Given the description of an element on the screen output the (x, y) to click on. 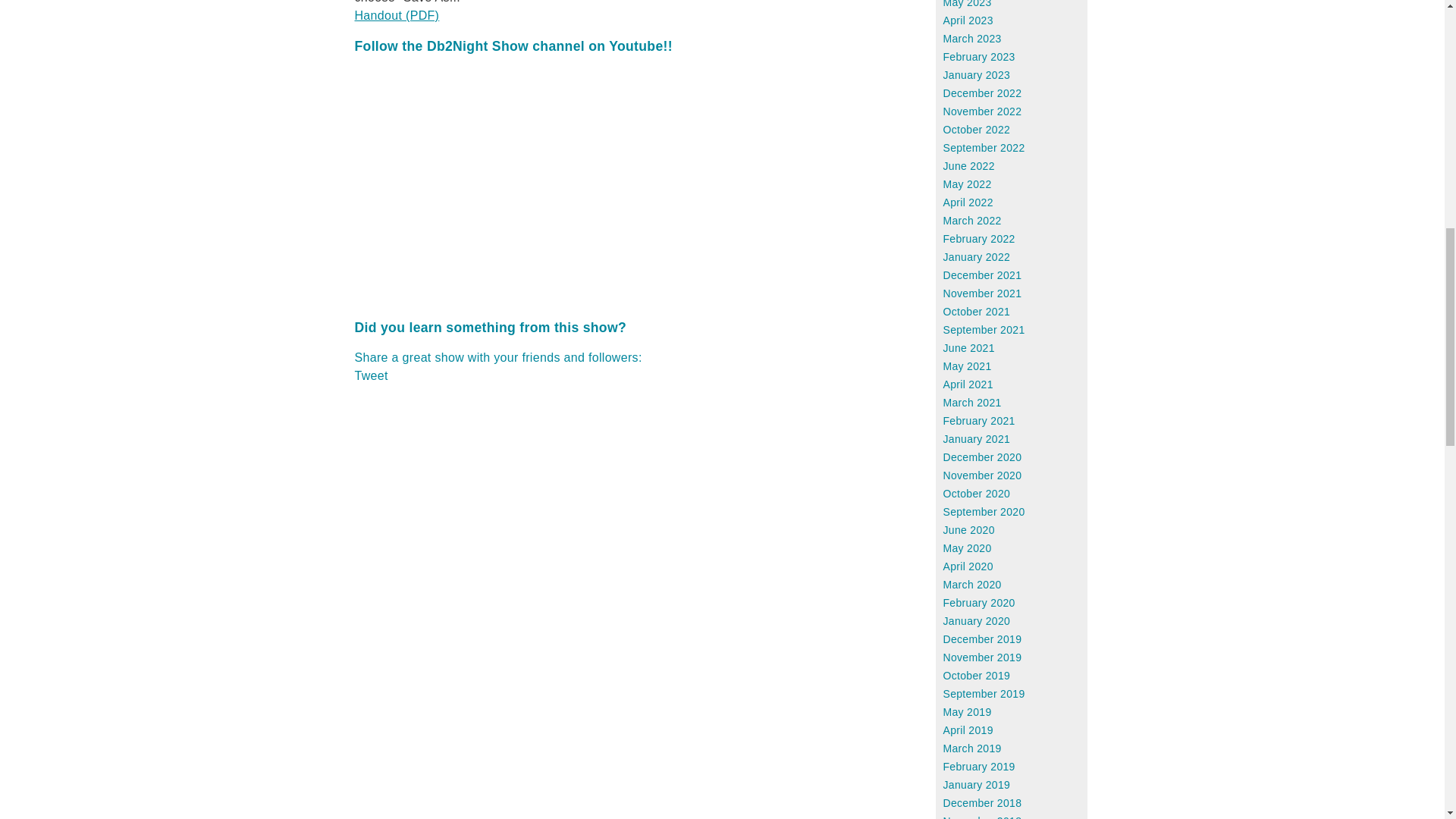
March 2023 (972, 38)
February 2023 (978, 56)
November 2022 (982, 111)
December 2022 (982, 92)
October 2022 (976, 129)
January 2023 (976, 74)
April 2023 (967, 20)
May 2023 (967, 4)
September 2022 (984, 147)
